Given the description of an element on the screen output the (x, y) to click on. 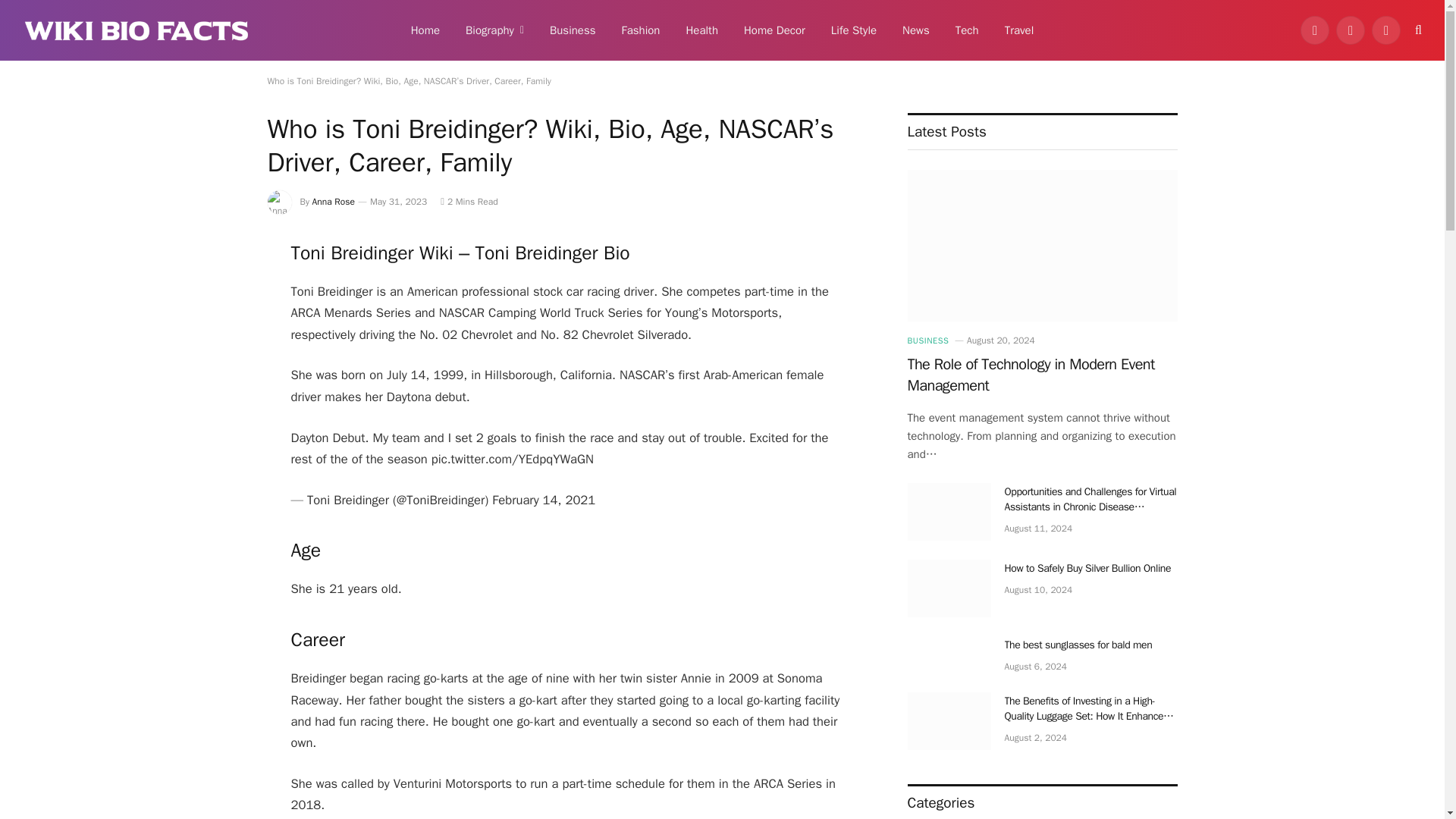
Travel (1018, 30)
Fashion (640, 30)
Biography (494, 30)
Business (572, 30)
Facebook (1314, 30)
Health (701, 30)
Life Style (853, 30)
Instagram (1385, 30)
WikiBioFacts.com (136, 30)
Home Decor (774, 30)
